Given the description of an element on the screen output the (x, y) to click on. 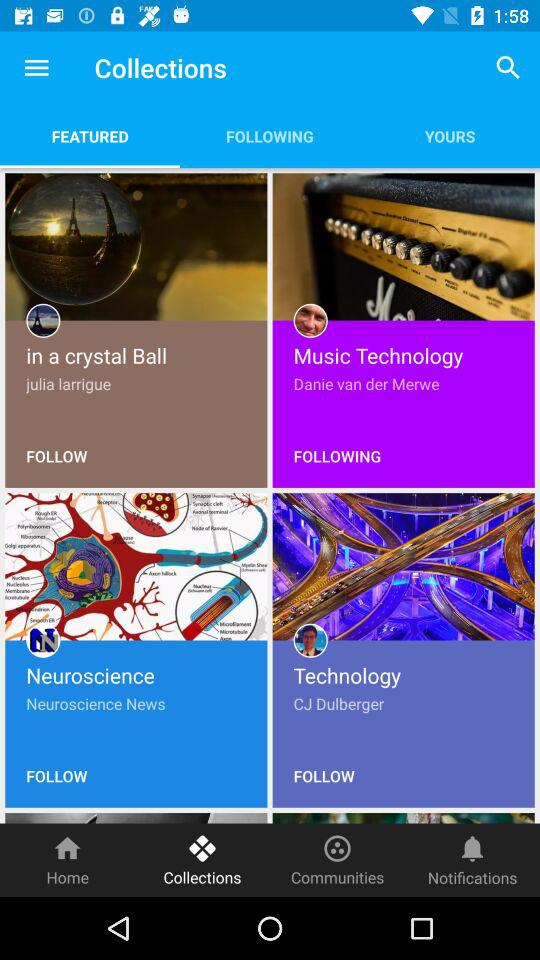
turn on the item next to collections item (36, 67)
